Given the description of an element on the screen output the (x, y) to click on. 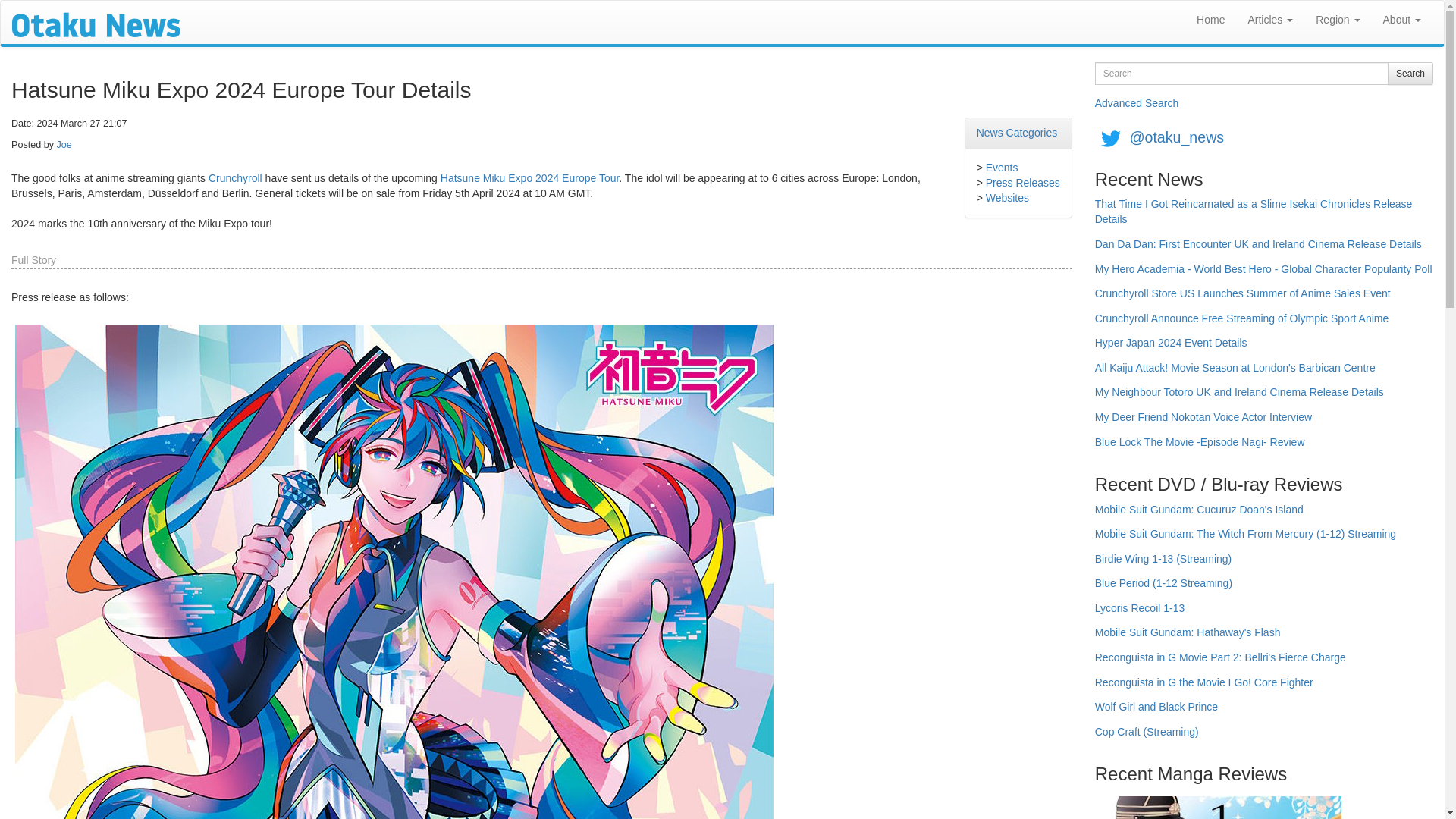
Press Releases (1022, 182)
About (1401, 19)
Home (1210, 19)
Events (1001, 167)
Websites (1007, 197)
Region (1337, 19)
Crunchyroll (235, 177)
Articles (1270, 19)
